Given the description of an element on the screen output the (x, y) to click on. 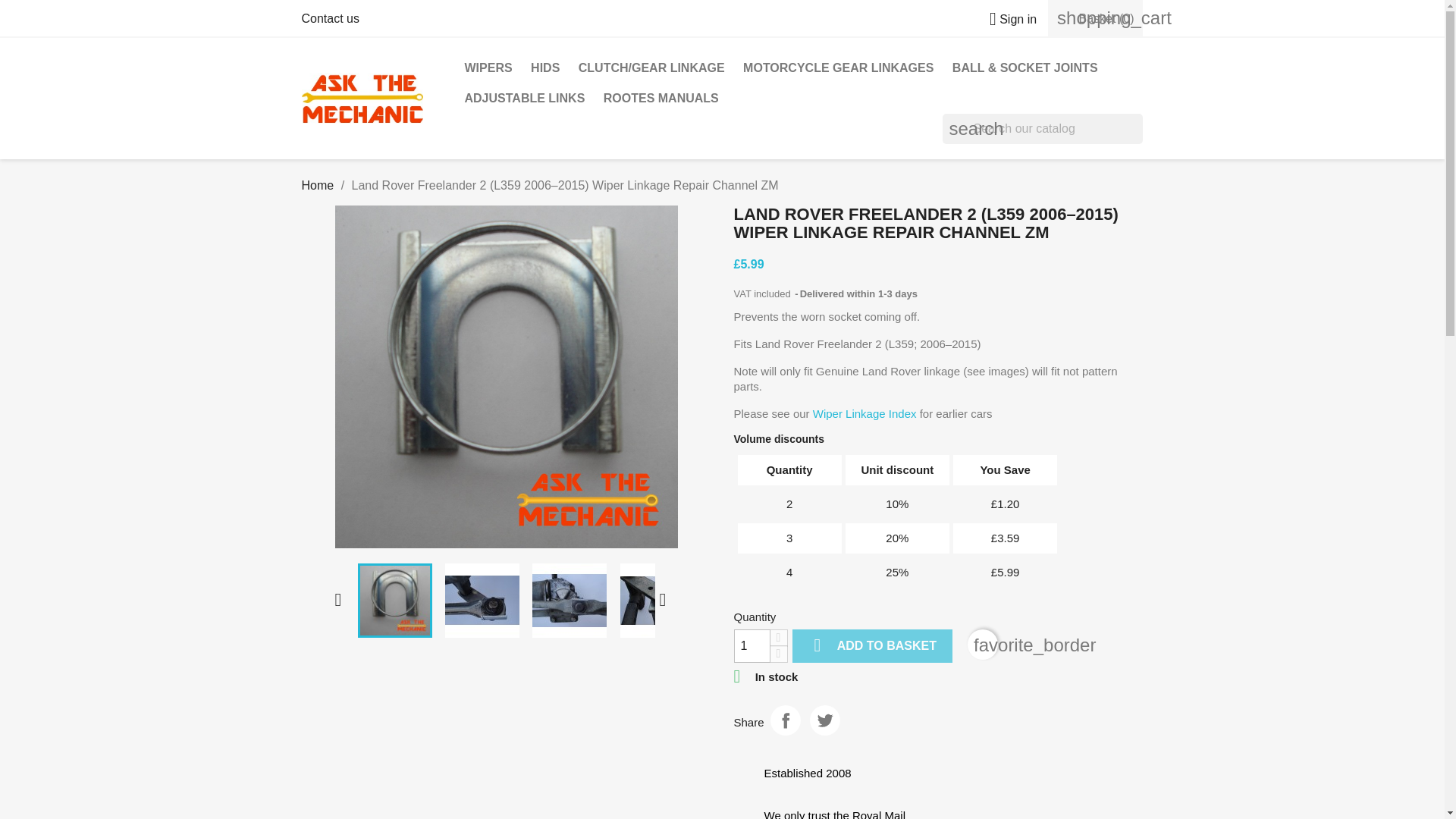
1 (751, 645)
MOTORCYCLE GEAR LINKAGES (837, 68)
Log in to your customer account (1007, 19)
HIDS (544, 68)
Land Rover Freelander 2 Wiper Repair Channel ZM (569, 600)
Tweet (824, 720)
WIPERS (488, 68)
Contact us (330, 18)
Land Rover Freelander 2 Wiper Repair Channel ZM (395, 600)
Share (785, 720)
Land Rover Freelander 2 Wiper Repair Channel ZM (506, 376)
Land Rover Freelander 2 Wiper Repair Channel ZM (482, 600)
